Given the description of an element on the screen output the (x, y) to click on. 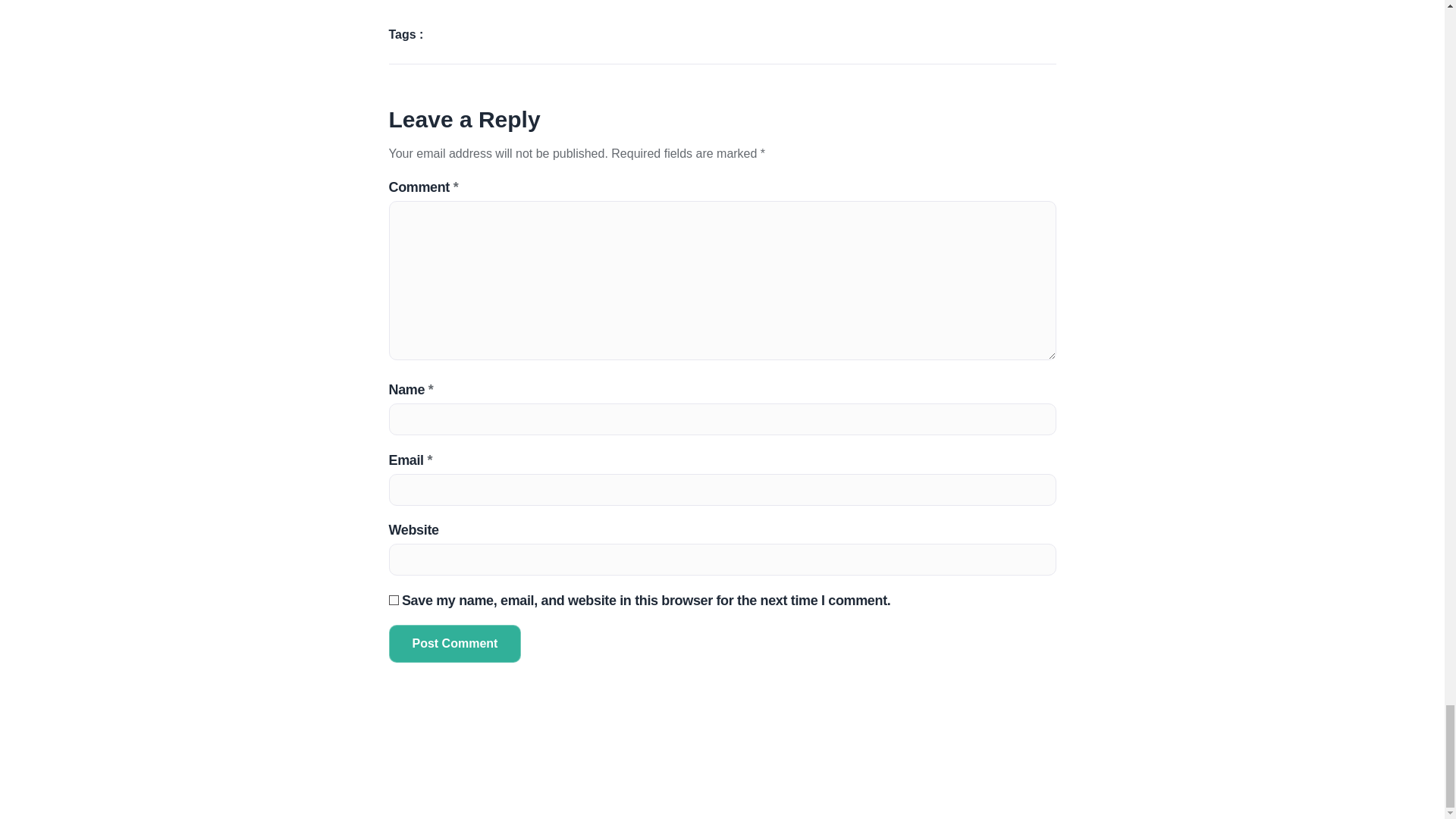
Post Comment (454, 643)
Post Comment (454, 643)
